Given the description of an element on the screen output the (x, y) to click on. 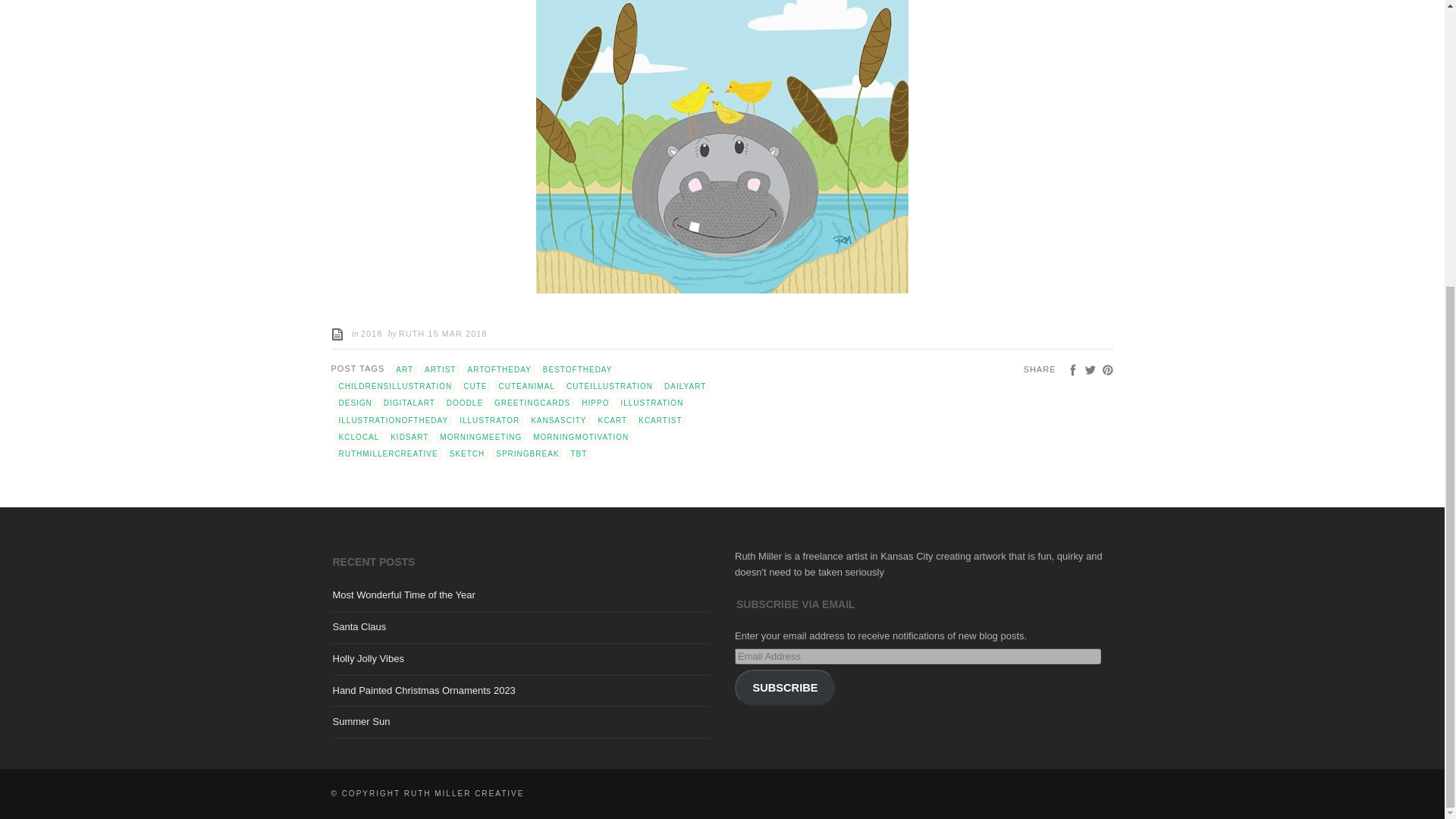
TBT (578, 453)
KCART (612, 420)
DOODLE (464, 403)
MORNINGMEETING (480, 437)
GREETINGCARDS (531, 403)
ILLUSTRATOR (488, 420)
DESIGN (354, 403)
ART (403, 369)
SKETCH (467, 453)
Pinterest (1106, 369)
RUTHMILLERCREATIVE (388, 453)
DIGITALART (409, 403)
Facebook (1071, 369)
ARTIST (440, 369)
BESTOFTHEDAY (576, 369)
